Given the description of an element on the screen output the (x, y) to click on. 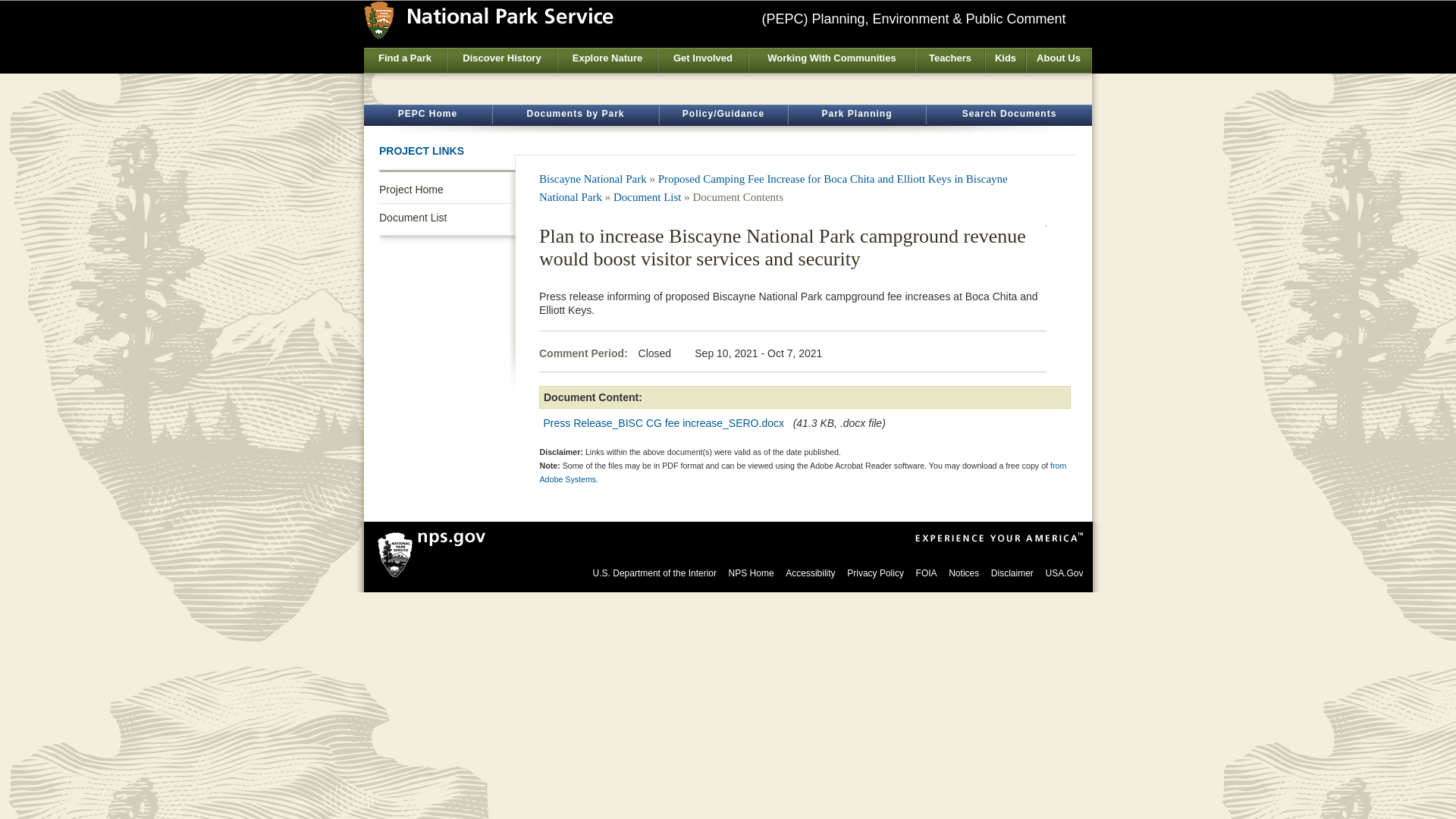
Explore Nature (606, 60)
Disclaimer (1012, 573)
About Us (1058, 60)
Biscayne National Park (592, 178)
Find projects by park  (575, 115)
Find a Park (404, 60)
Teachers (949, 60)
Privacy Policy (875, 573)
Project Home (446, 189)
Notices (963, 573)
